Given the description of an element on the screen output the (x, y) to click on. 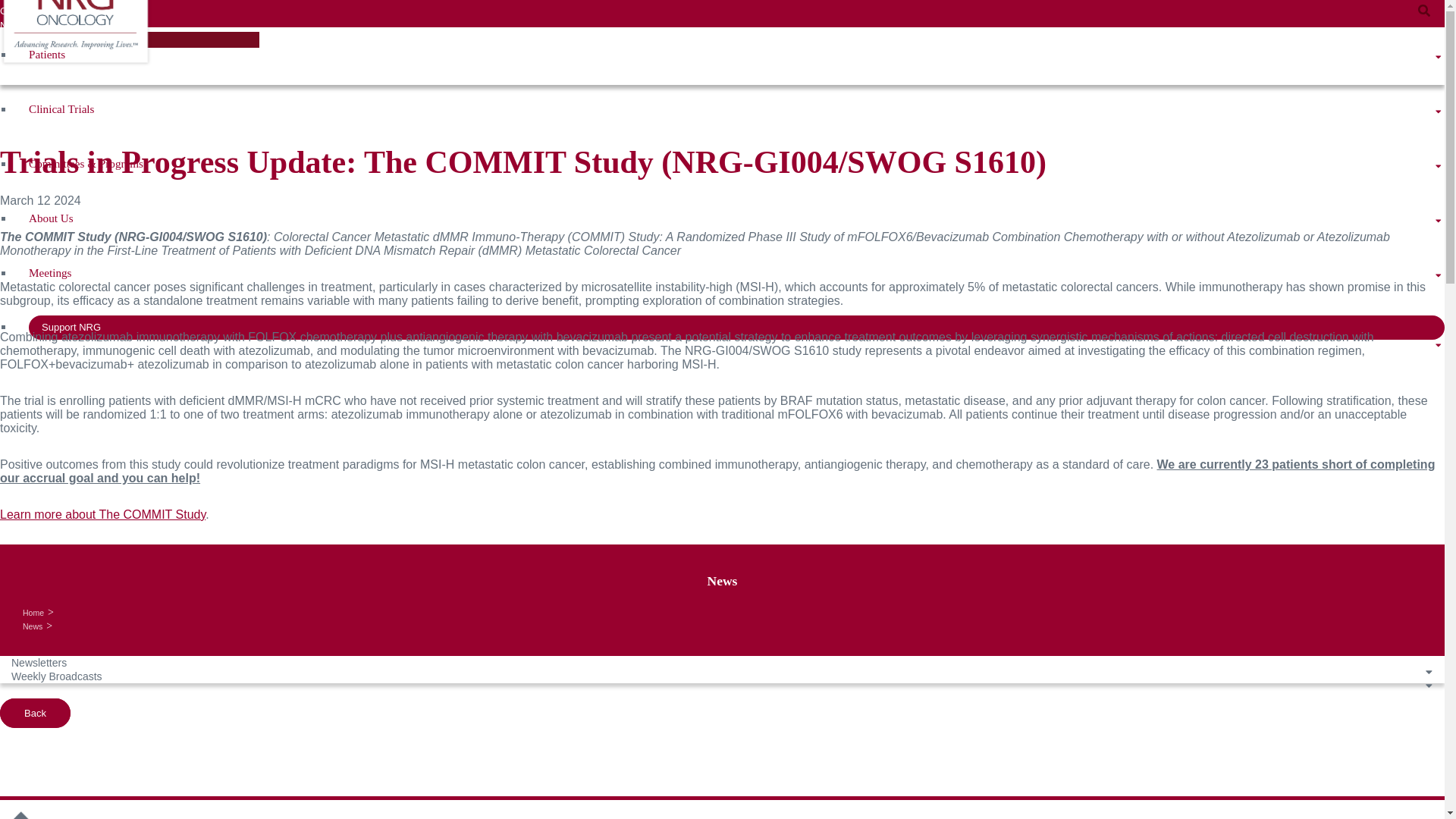
NRG (75, 16)
Clinical Trials (729, 108)
Member Login (31, 39)
News (12, 25)
Patients (729, 54)
Clear search text (222, 41)
Contact Us (24, 10)
